Given the description of an element on the screen output the (x, y) to click on. 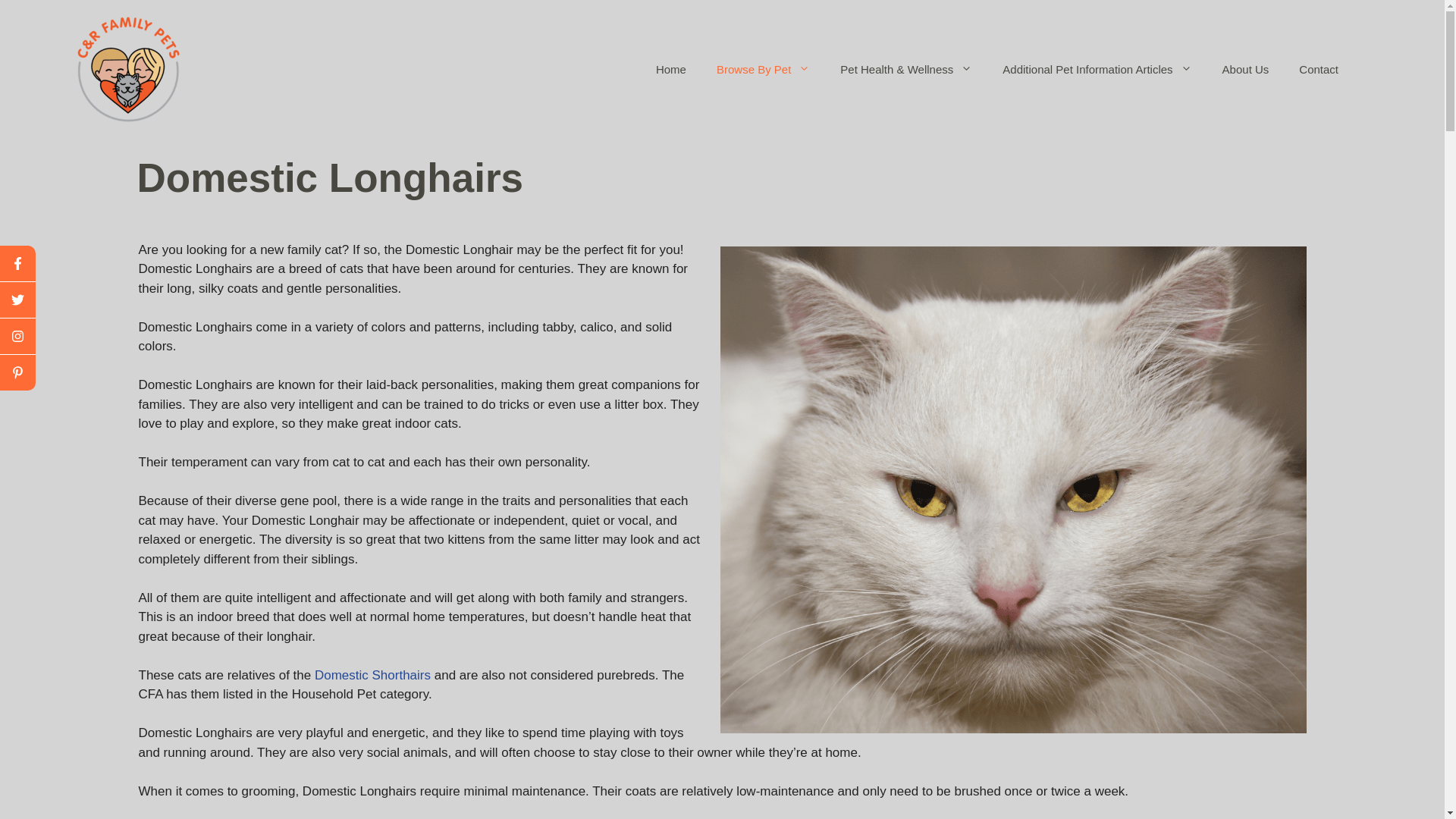
Home (670, 69)
Browse By Pet (763, 69)
